Given the description of an element on the screen output the (x, y) to click on. 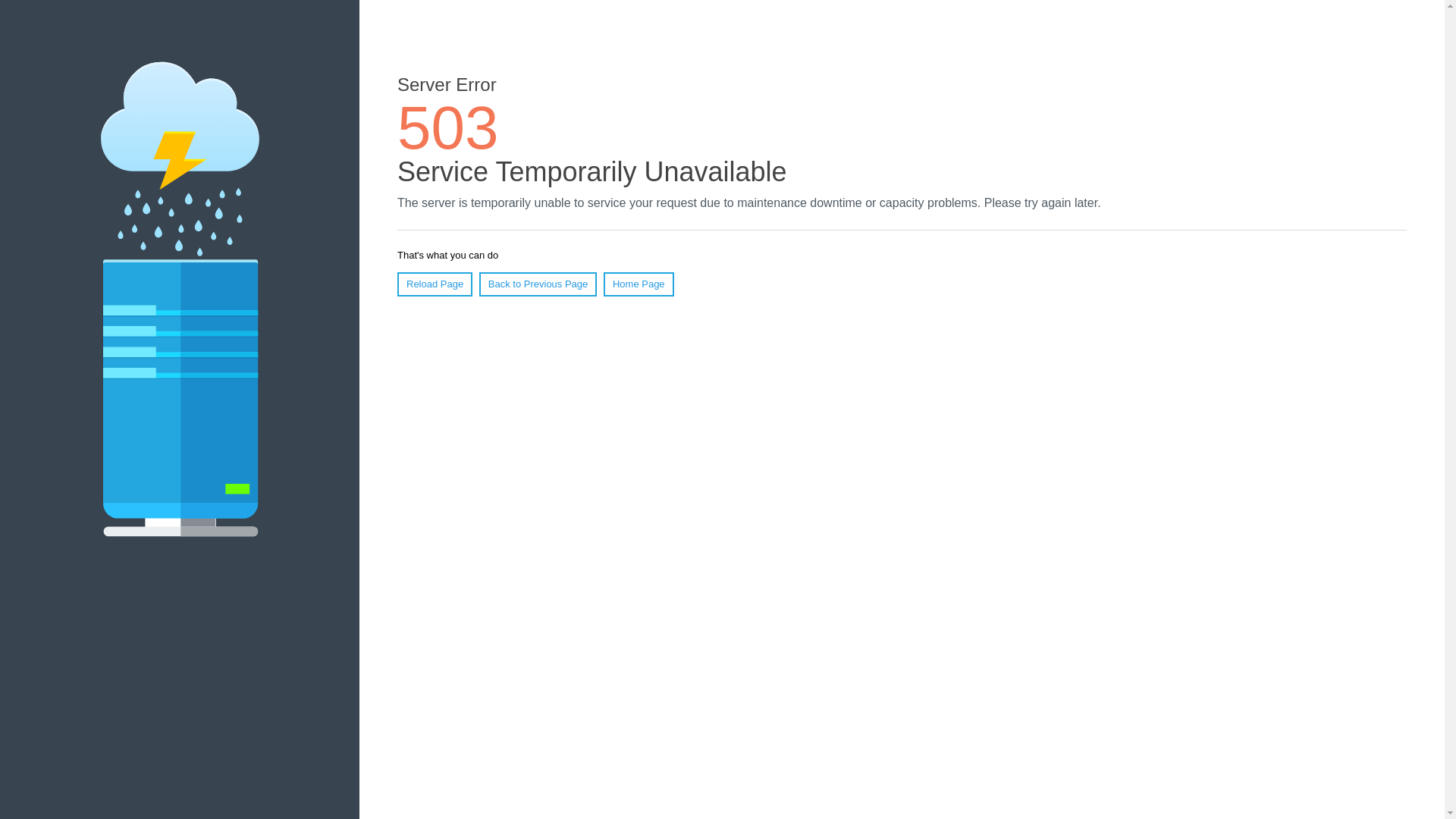
Reload Page (434, 283)
Home Page (639, 283)
Back to Previous Page (537, 283)
